Given the description of an element on the screen output the (x, y) to click on. 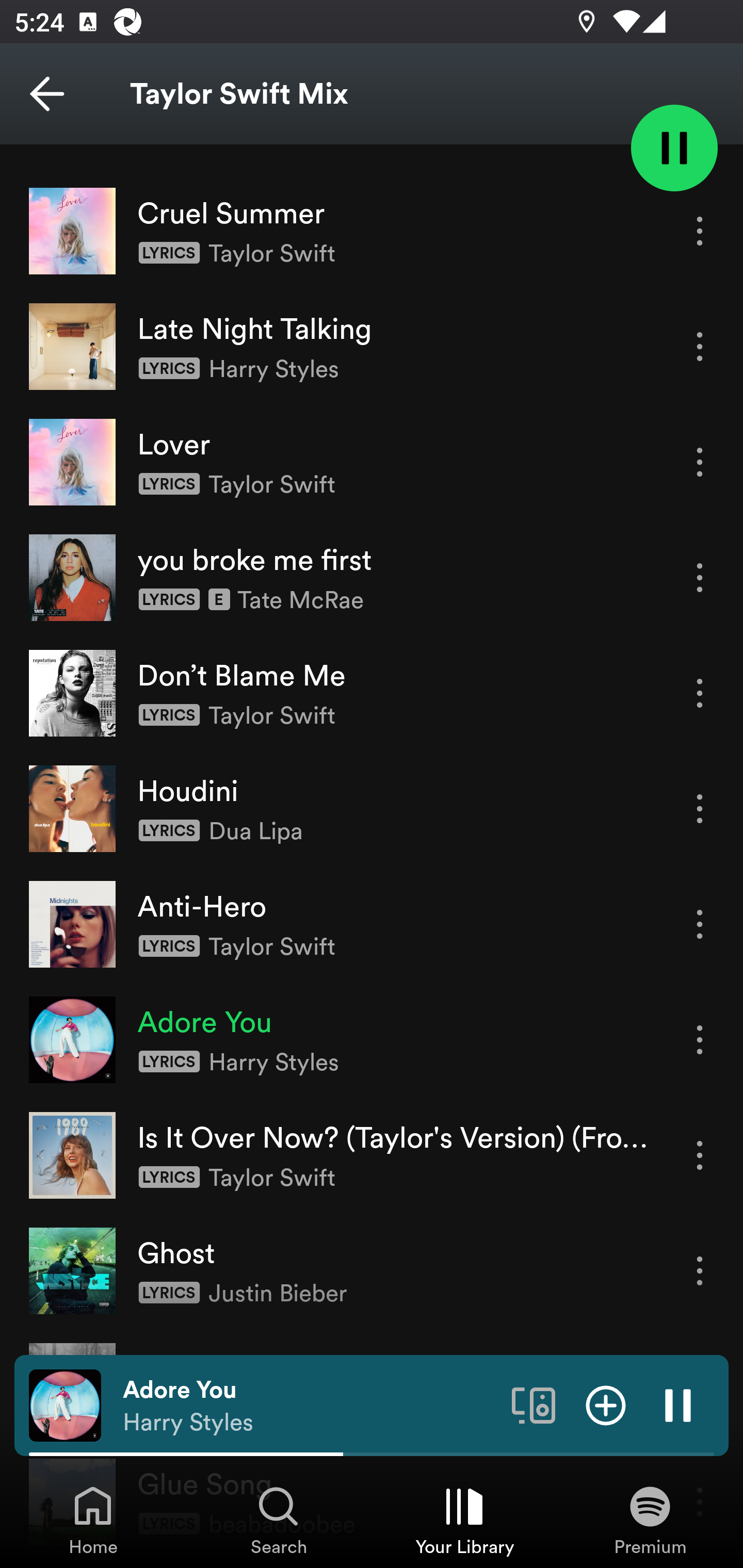
Back (46, 93)
Pause playlist (674, 147)
More options for song Cruel Summer (699, 231)
More options for song Late Night Talking (699, 346)
More options for song Lover (699, 461)
More options for song you broke me first (699, 577)
More options for song Don’t Blame Me (699, 692)
More options for song Houdini (699, 808)
More options for song Anti-Hero (699, 924)
More options for song Adore You (699, 1040)
More options for song Ghost (699, 1270)
Adore You Harry Styles (309, 1405)
The cover art of the currently playing track (64, 1404)
Connect to a device. Opens the devices menu (533, 1404)
Add item (605, 1404)
Pause (677, 1404)
Home, Tab 1 of 4 Home Home (92, 1519)
Search, Tab 2 of 4 Search Search (278, 1519)
Your Library, Tab 3 of 4 Your Library Your Library (464, 1519)
Premium, Tab 4 of 4 Premium Premium (650, 1519)
